Given the description of an element on the screen output the (x, y) to click on. 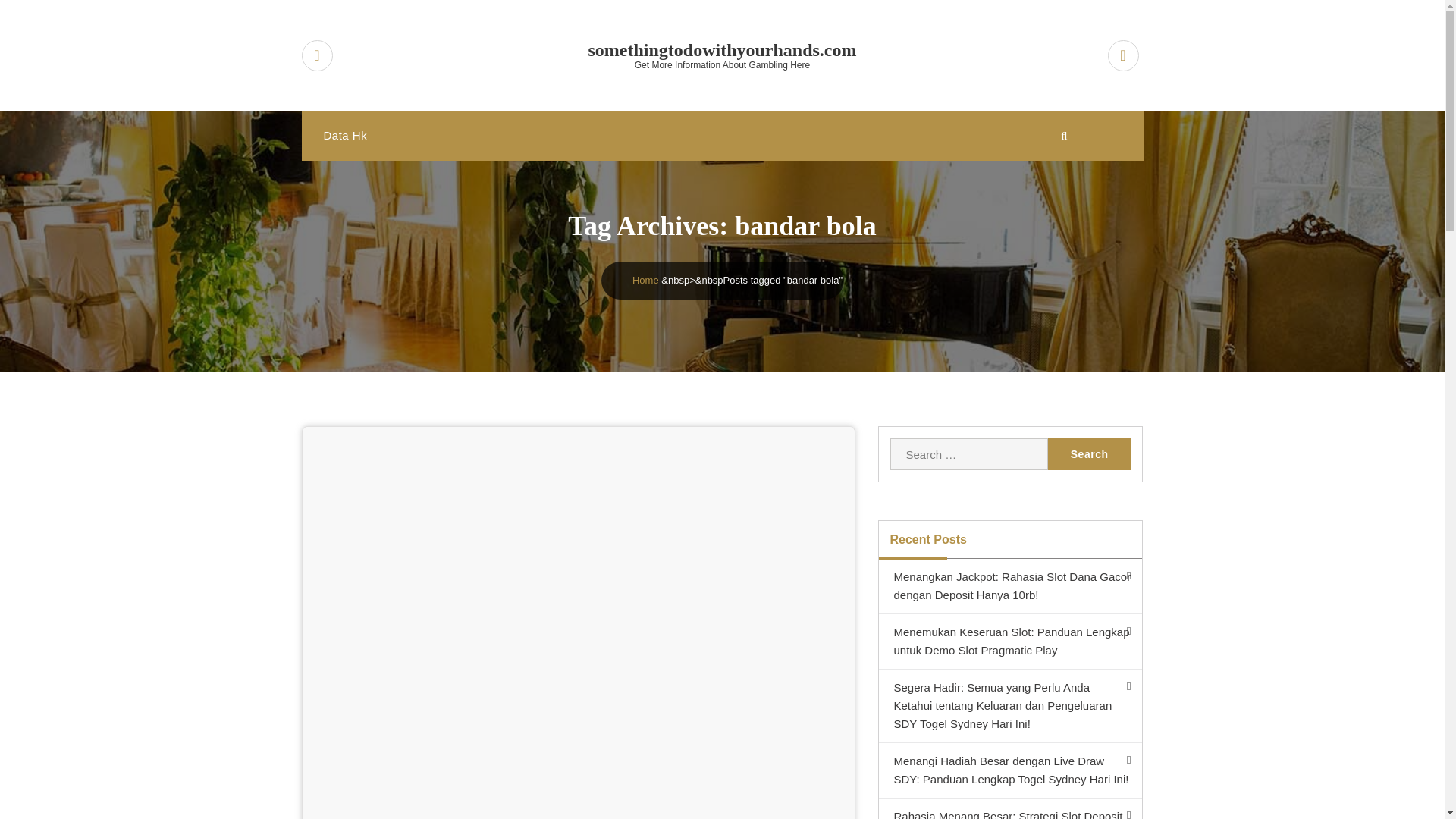
Data Hk (345, 135)
somethingtodowithyourhands.com (722, 49)
Search (1089, 454)
Search (1089, 454)
Home (645, 279)
Info (341, 467)
